Given the description of an element on the screen output the (x, y) to click on. 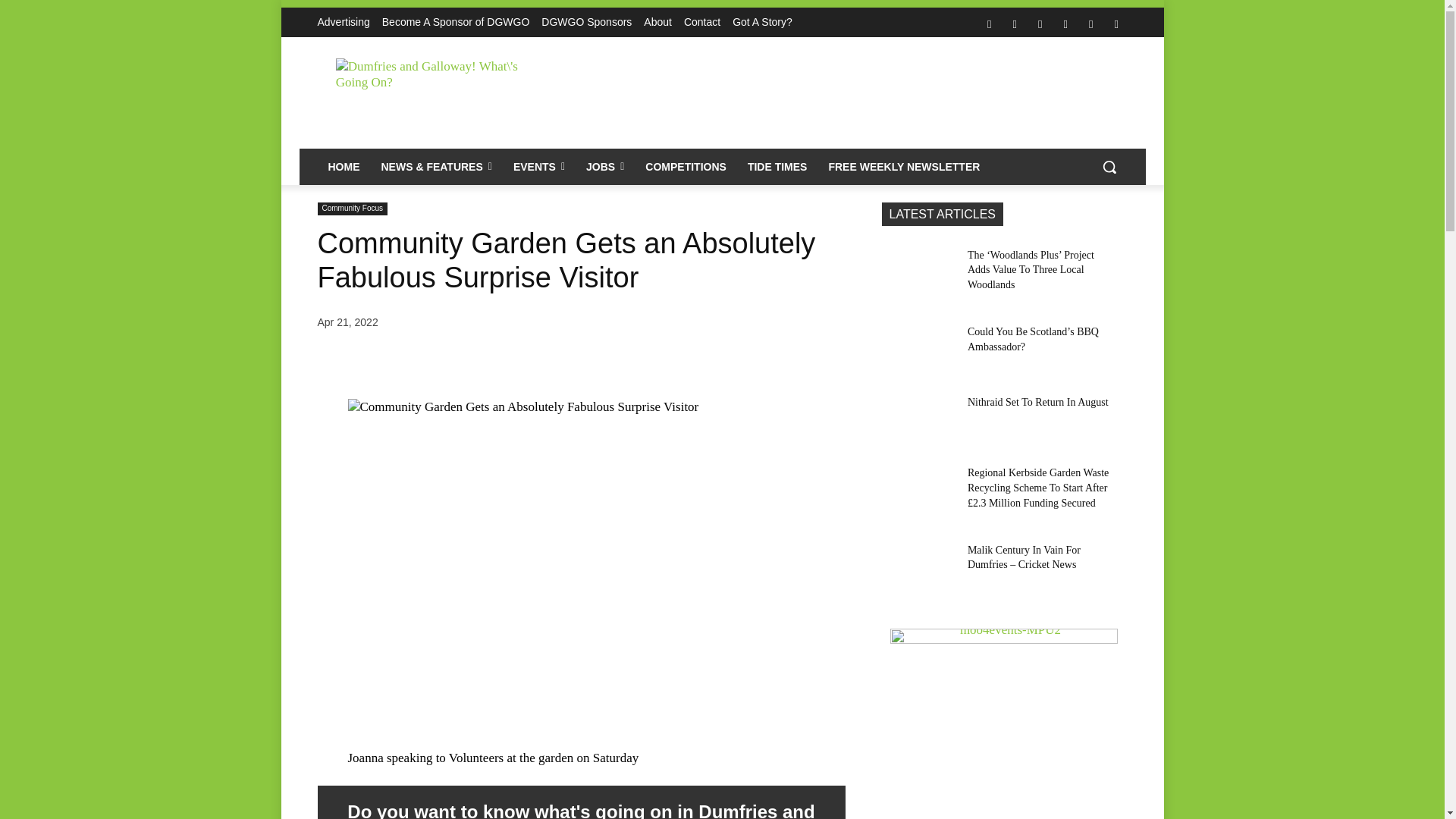
DGWGO Sponsors (586, 21)
TikTok (1065, 24)
Twitter (1091, 24)
Contact (702, 21)
Become A Sponsor of DGWGO (455, 21)
Facebook (989, 24)
Youtube (1115, 24)
Advertising (343, 21)
Instagram (1015, 24)
Got A Story? (762, 21)
About (657, 21)
Mail (1040, 24)
